Given the description of an element on the screen output the (x, y) to click on. 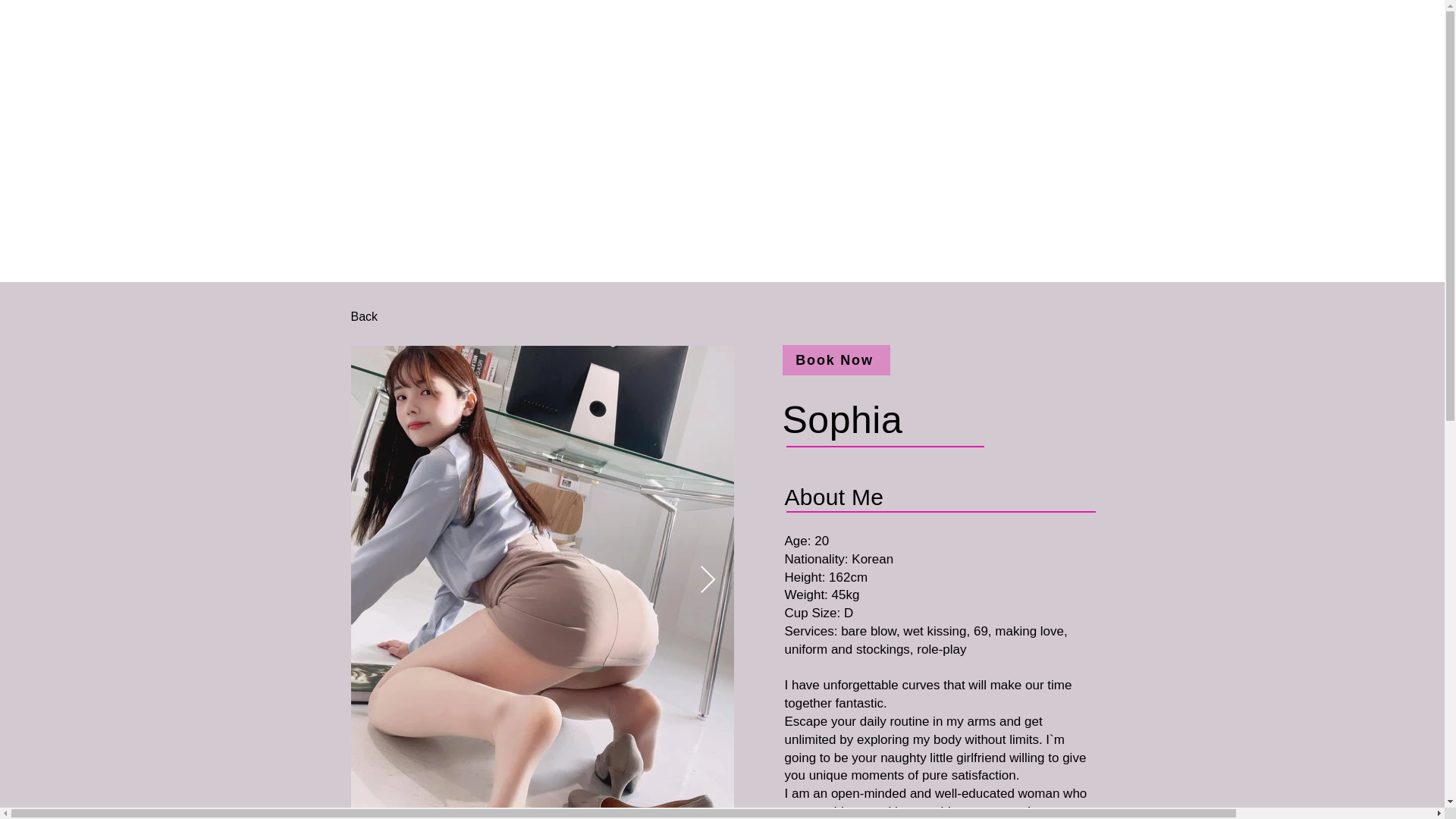
Back (367, 317)
